Given the description of an element on the screen output the (x, y) to click on. 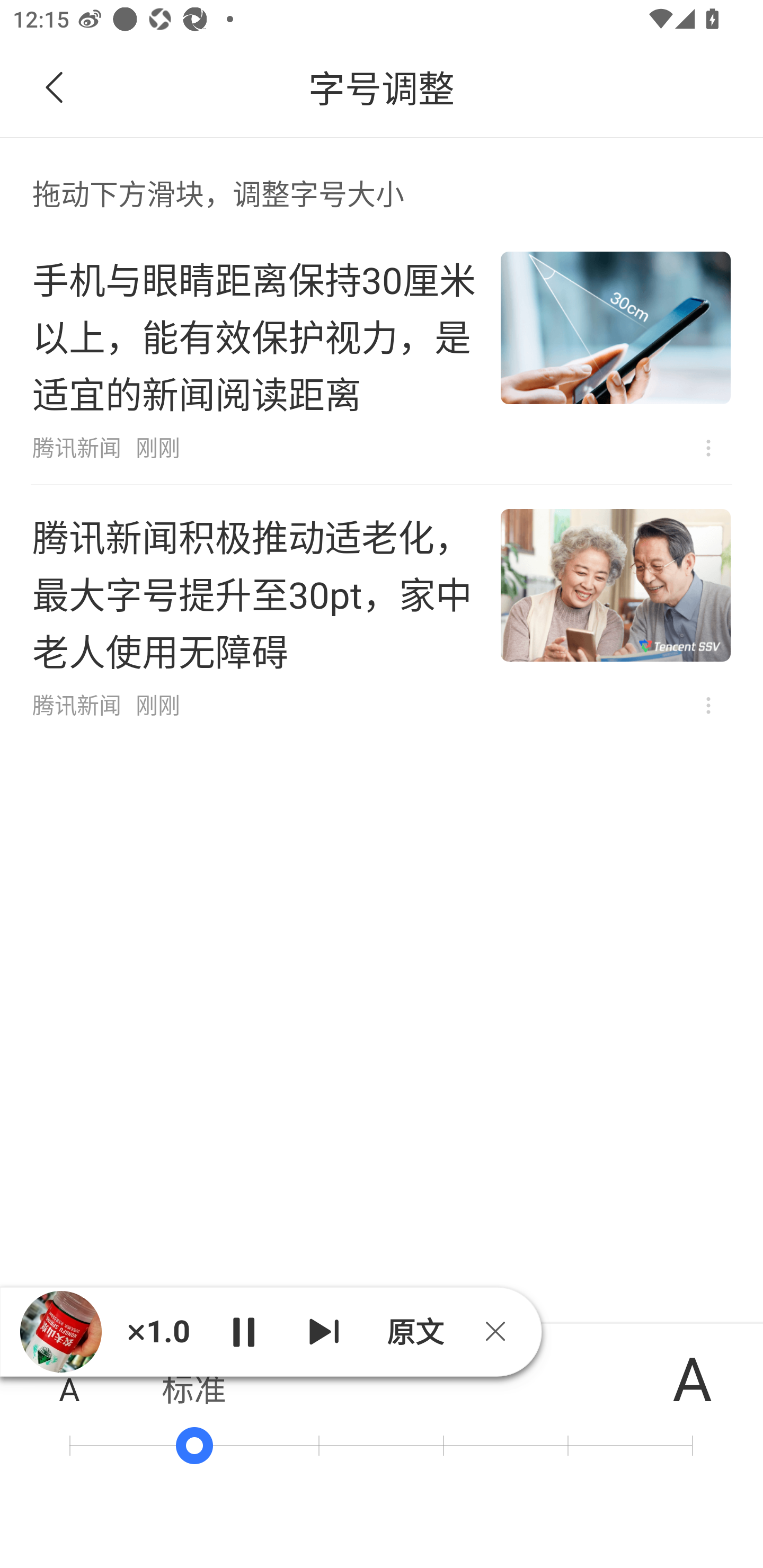
 返回 (54, 87)
手机与眼睛距离保持30厘米以上，能有效保护视力，是适宜的新闻阅读距离 腾讯新闻 刚刚  不感兴趣 (381, 355)
 不感兴趣 (707, 448)
腾讯新闻积极推动适老化，最大字号提升至30pt，家中老人使用无障碍 腾讯新闻 刚刚  不感兴趣 (381, 612)
 不感兴趣 (707, 705)
播放器 (60, 1331)
 播放 (242, 1330)
 下一个 (323, 1330)
 关闭 (501, 1330)
原文 (413, 1331)
 1.0 (157, 1330)
